Given the description of an element on the screen output the (x, y) to click on. 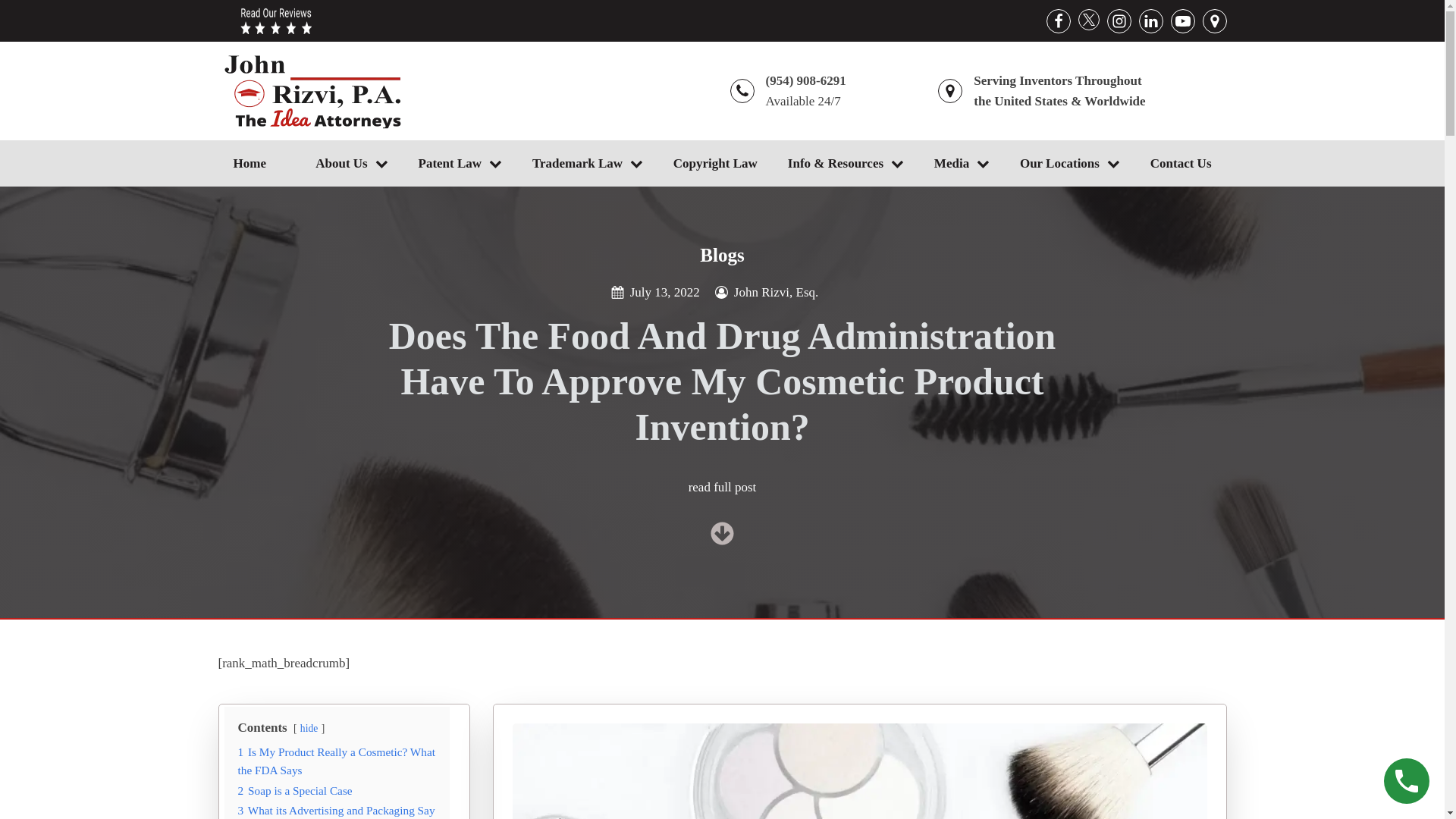
Copyright Law (715, 163)
Media (961, 163)
Our Locations (1069, 163)
Back to home (312, 90)
Patent Law (459, 163)
Trademark Law (587, 163)
About Us (351, 163)
Home (259, 163)
